Given the description of an element on the screen output the (x, y) to click on. 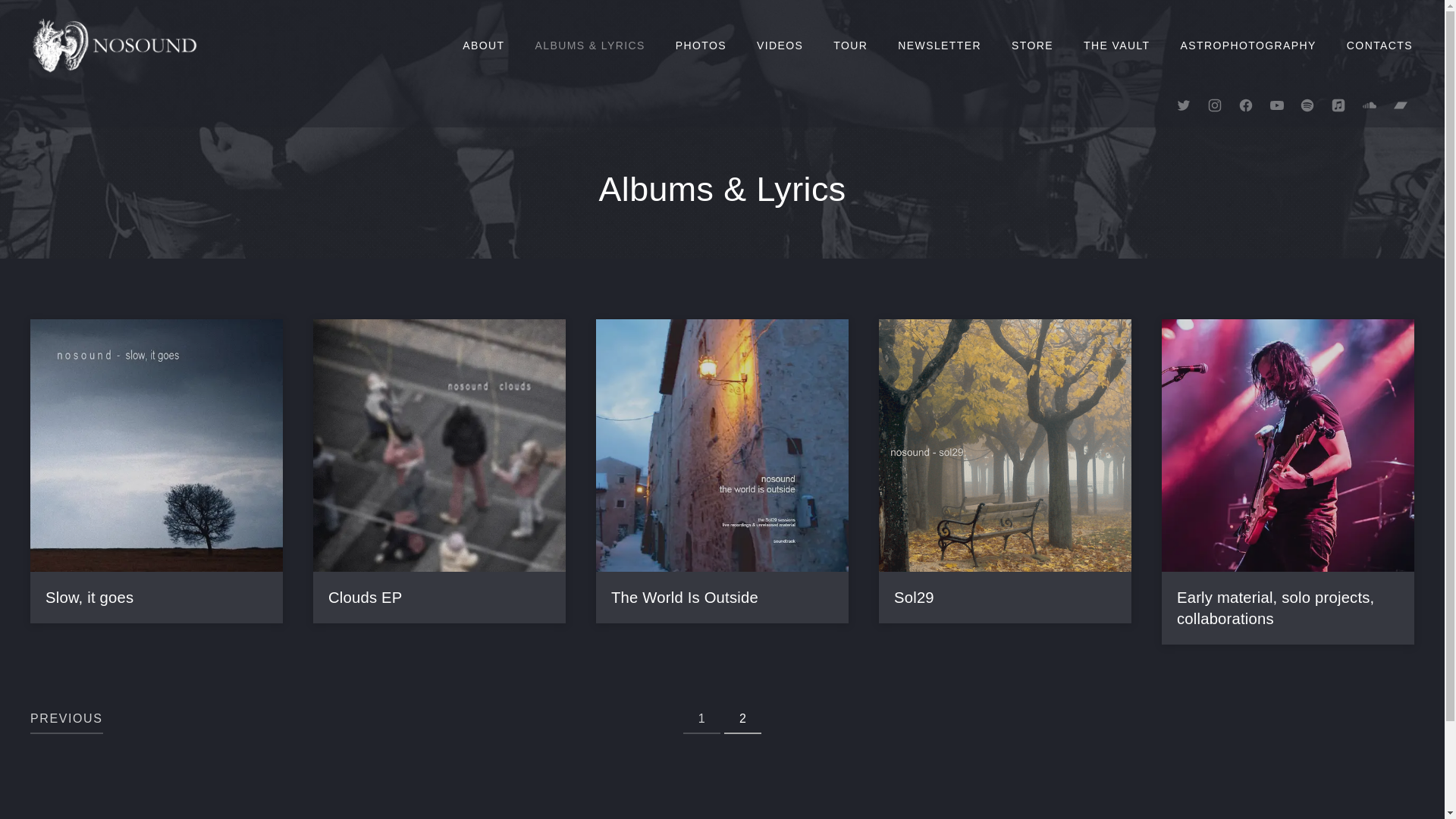
Slow, it goes Element type: text (89, 598)
New Window Element type: text (1276, 105)
New Window Element type: text (1338, 105)
NEWSLETTER Element type: text (939, 45)
1 Element type: text (701, 719)
New Window Element type: text (1369, 105)
New Window Element type: text (1307, 105)
ALBUMS & LYRICS Element type: text (590, 45)
Sol29 Element type: text (914, 598)
PHOTOS Element type: text (700, 45)
VIDEOS Element type: text (779, 45)
Early material, solo projects, collaborations Element type: text (1275, 608)
STORE Element type: text (1032, 45)
Clouds EP Element type: text (365, 598)
CONTACTS Element type: text (1379, 45)
New Window Element type: text (1183, 105)
THE VAULT Element type: text (1116, 45)
ASTROPHOTOGRAPHY Element type: text (1248, 45)
TOUR Element type: text (850, 45)
The World Is Outside Element type: text (684, 598)
New Window Element type: text (1245, 105)
New Window Element type: text (1214, 105)
ABOUT Element type: text (483, 45)
New Window Element type: text (1400, 105)
PREVIOUS Element type: text (66, 719)
